Given the description of an element on the screen output the (x, y) to click on. 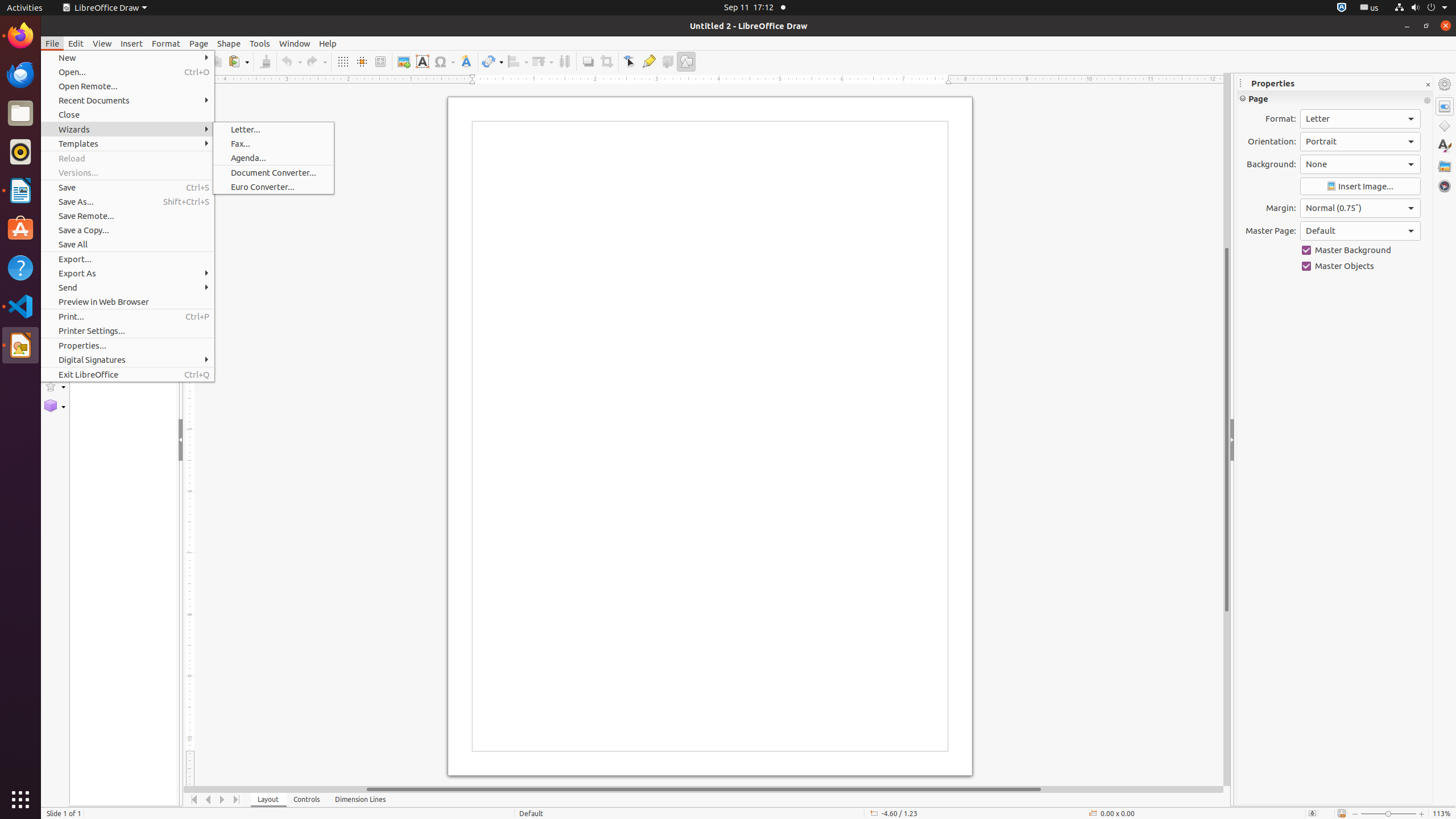
Tools Element type: menu (259, 43)
Properties... Element type: menu-item (127, 345)
View Element type: menu (102, 43)
Fax... Element type: menu-item (273, 143)
Export... Element type: menu-item (127, 258)
